Given the description of an element on the screen output the (x, y) to click on. 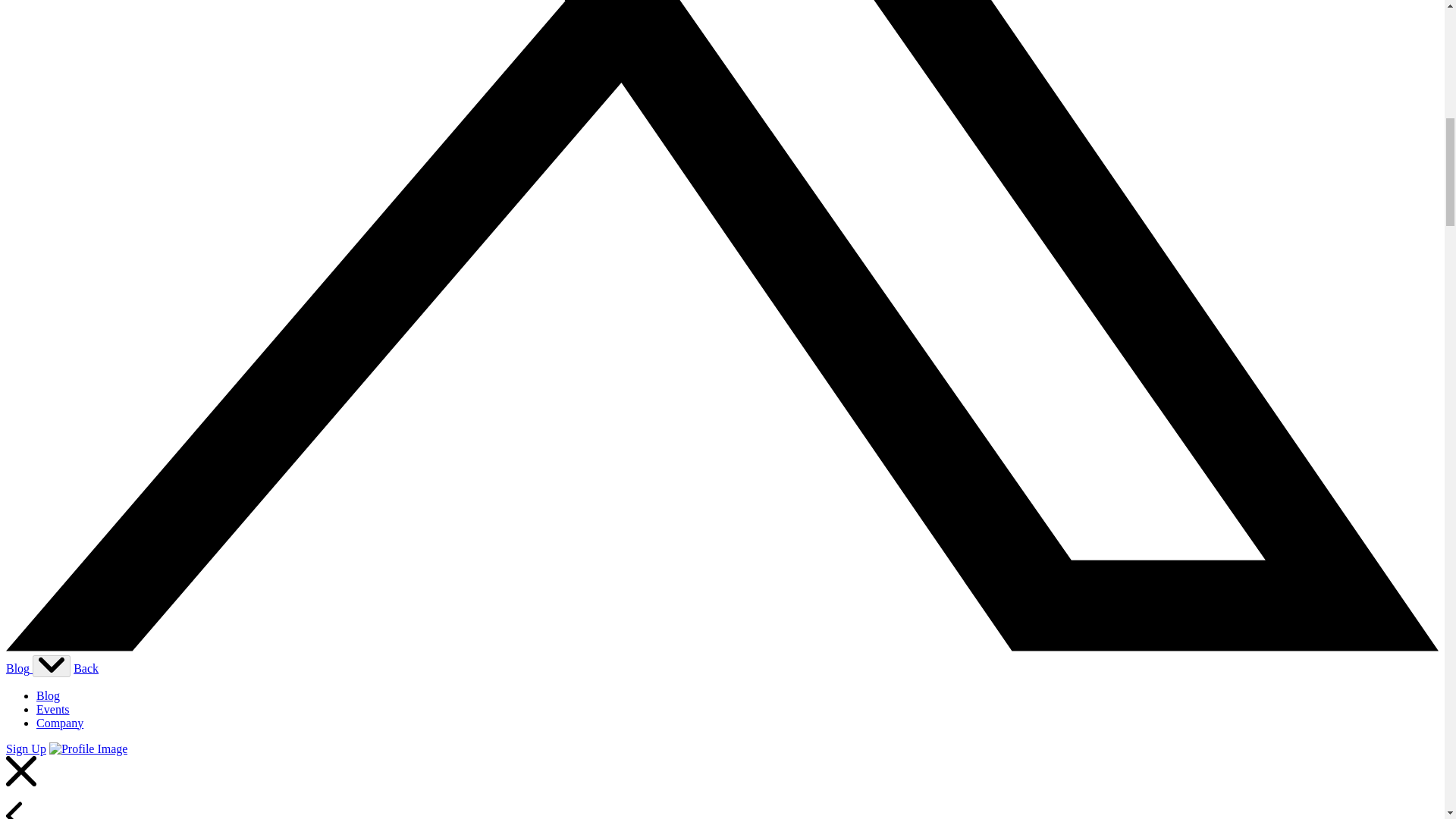
Back (86, 667)
Company (59, 721)
Blog (47, 694)
Sign Up (25, 748)
Events (52, 707)
